Given the description of an element on the screen output the (x, y) to click on. 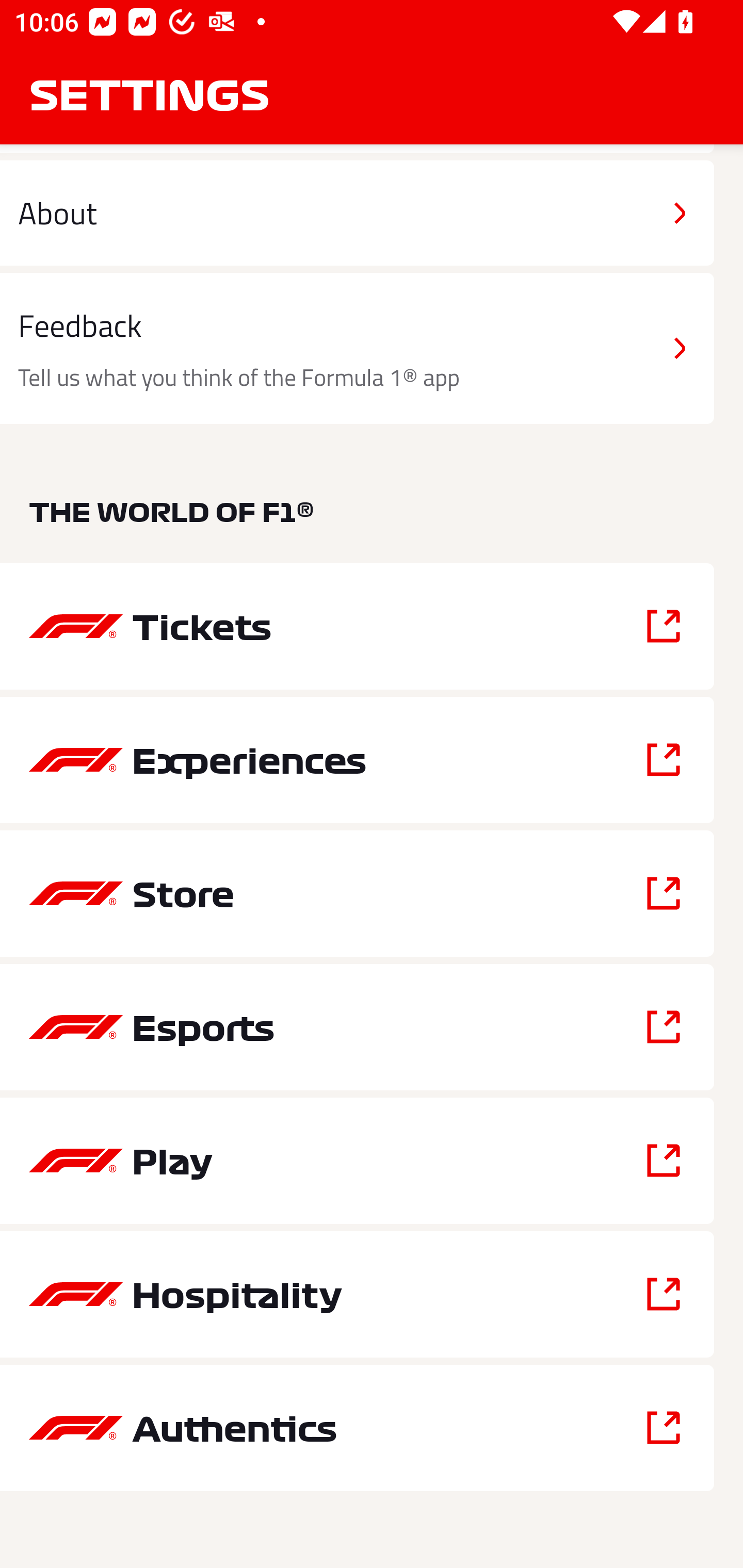
About (357, 211)
Tickets (357, 625)
Experiences (357, 759)
Store (357, 893)
Esports (357, 1026)
Play (357, 1160)
Hospitality (357, 1293)
Authentics (357, 1427)
